Given the description of an element on the screen output the (x, y) to click on. 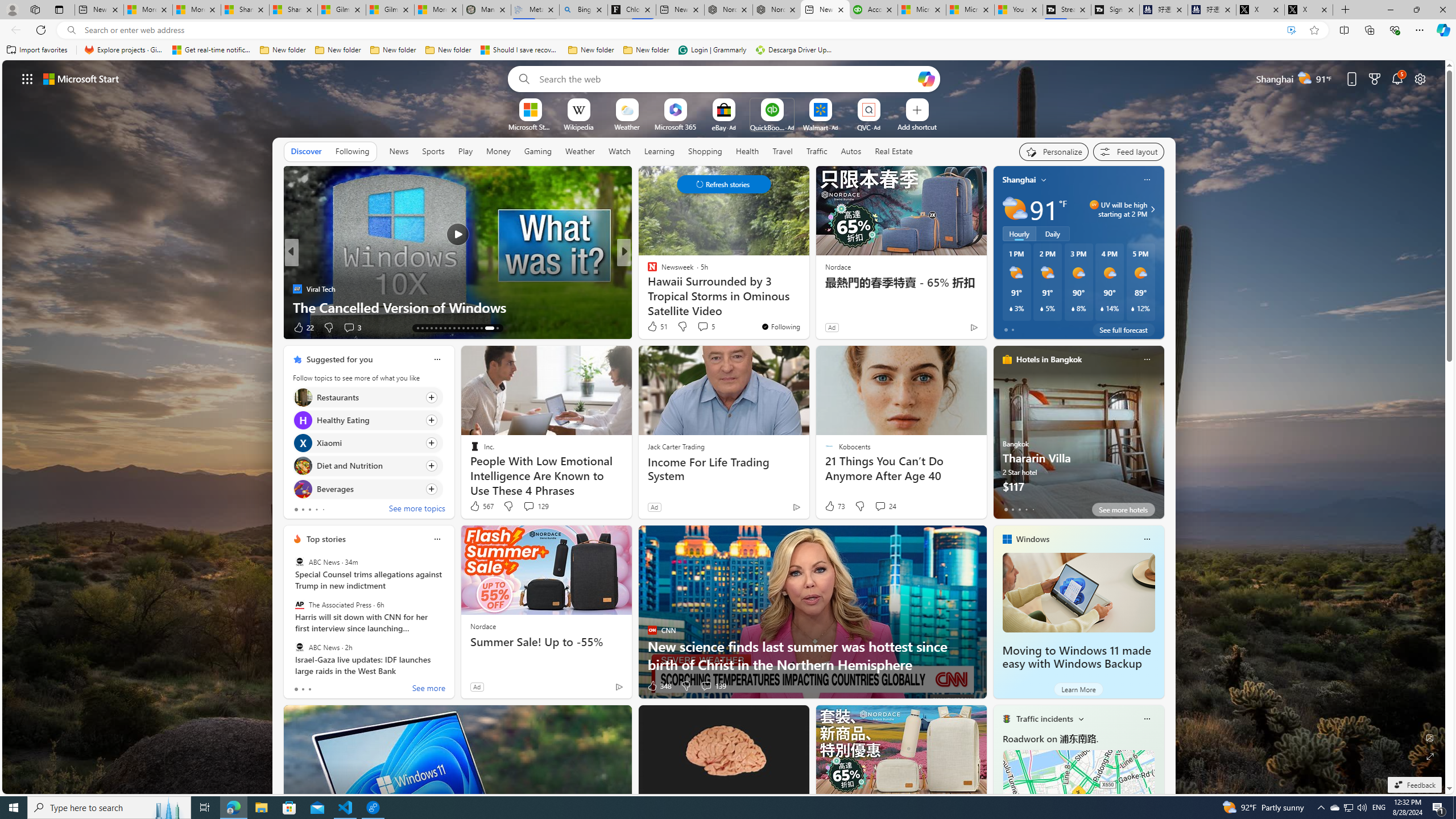
15 Like (652, 327)
73 Like (834, 505)
